Given the description of an element on the screen output the (x, y) to click on. 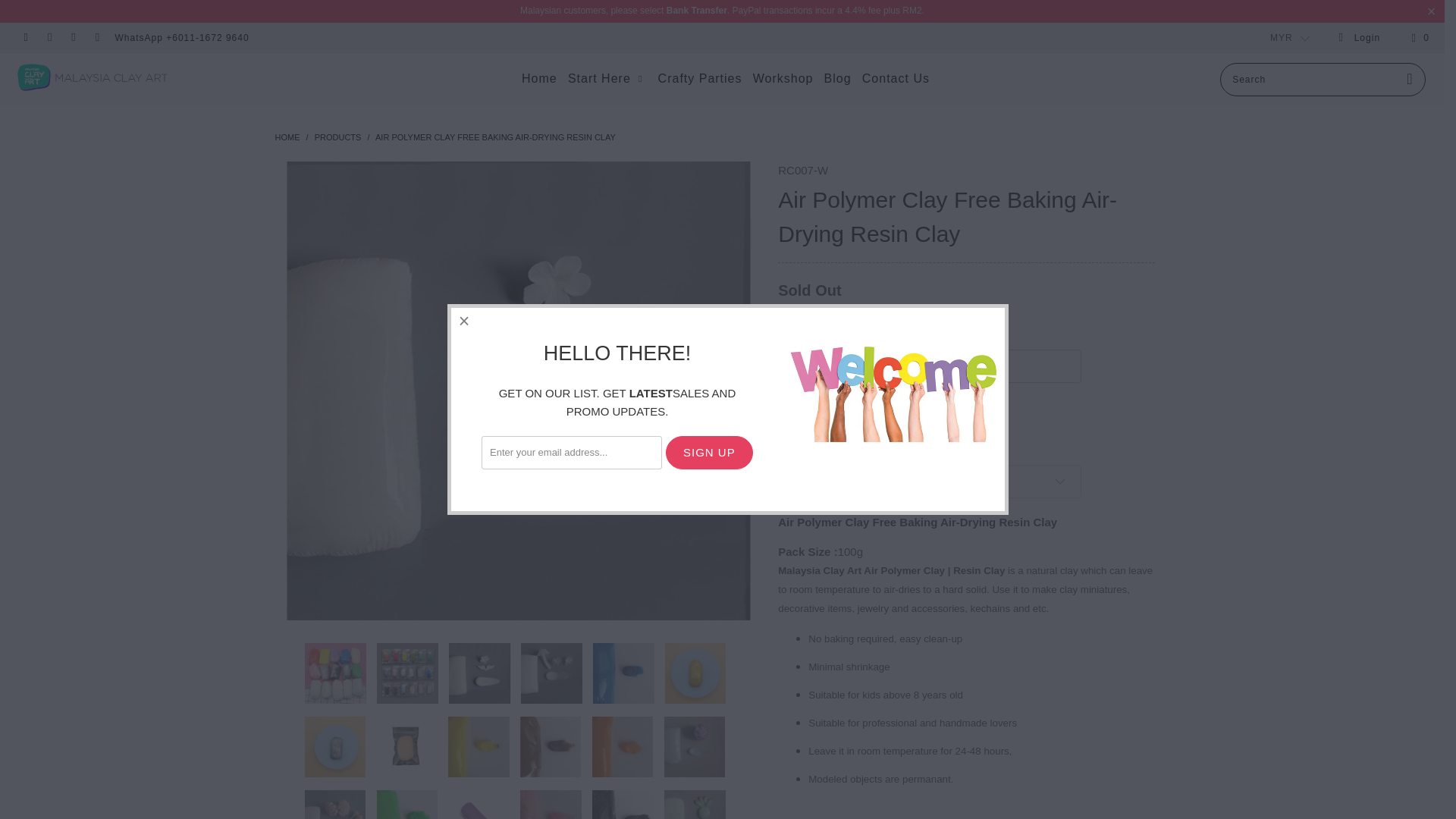
Malaysia Clay Art (122, 77)
Malaysia Clay Art (287, 136)
Send (810, 410)
Email Malaysia Clay Art (96, 37)
Malaysia Clay Art on YouTube (48, 37)
Products (337, 136)
Sign Up (708, 452)
Malaysia Clay Art on Instagram (73, 37)
Malaysia Clay Art on Facebook (25, 37)
My Account  (1358, 37)
